Given the description of an element on the screen output the (x, y) to click on. 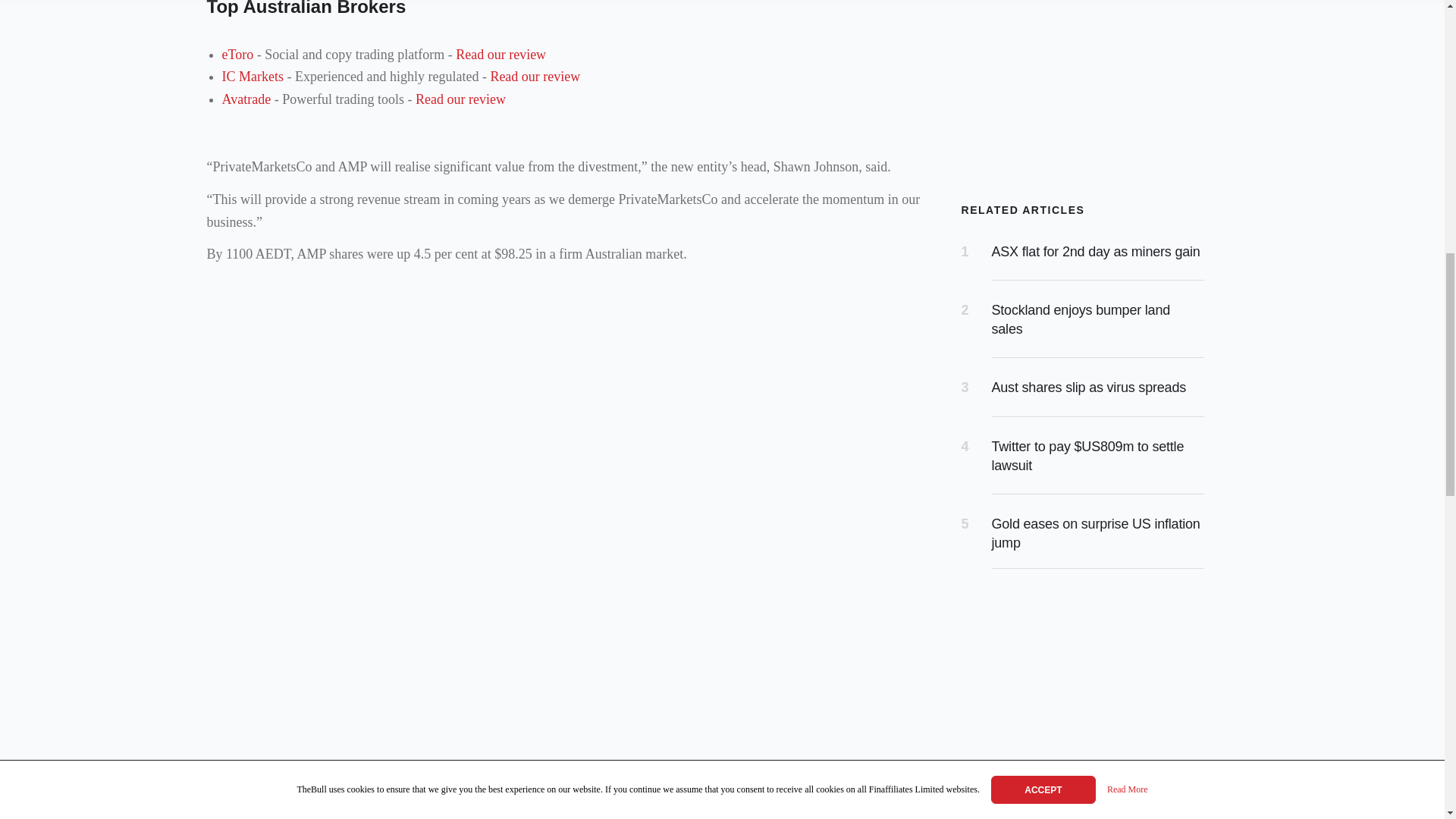
Read our review (500, 54)
eToro (237, 54)
Aust shares slip as virus spreads (1088, 387)
Stockland enjoys bumper land sales (1080, 319)
ASX flat for 2nd day as miners gain (1095, 251)
IC Markets (251, 76)
Read our review (459, 99)
Aust shares slip as virus spreads (1088, 387)
Gold eases on surprise US inflation jump (1095, 533)
Avatrade (245, 99)
